Given the description of an element on the screen output the (x, y) to click on. 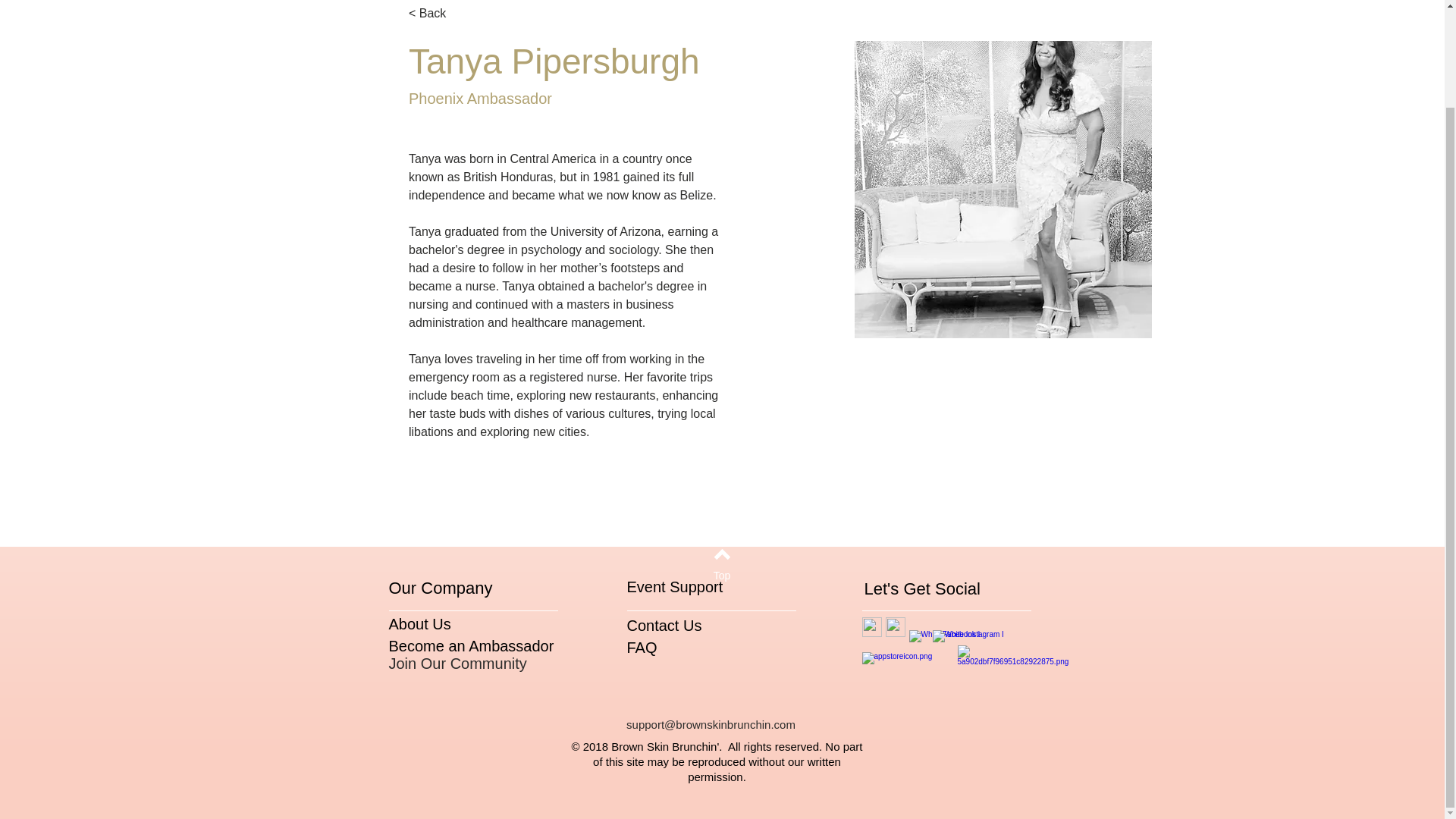
Become an Ambassador (470, 646)
Top (721, 575)
FAQ (641, 647)
Contact Us (663, 625)
Join Our Community (456, 663)
About Us (418, 623)
